Given the description of an element on the screen output the (x, y) to click on. 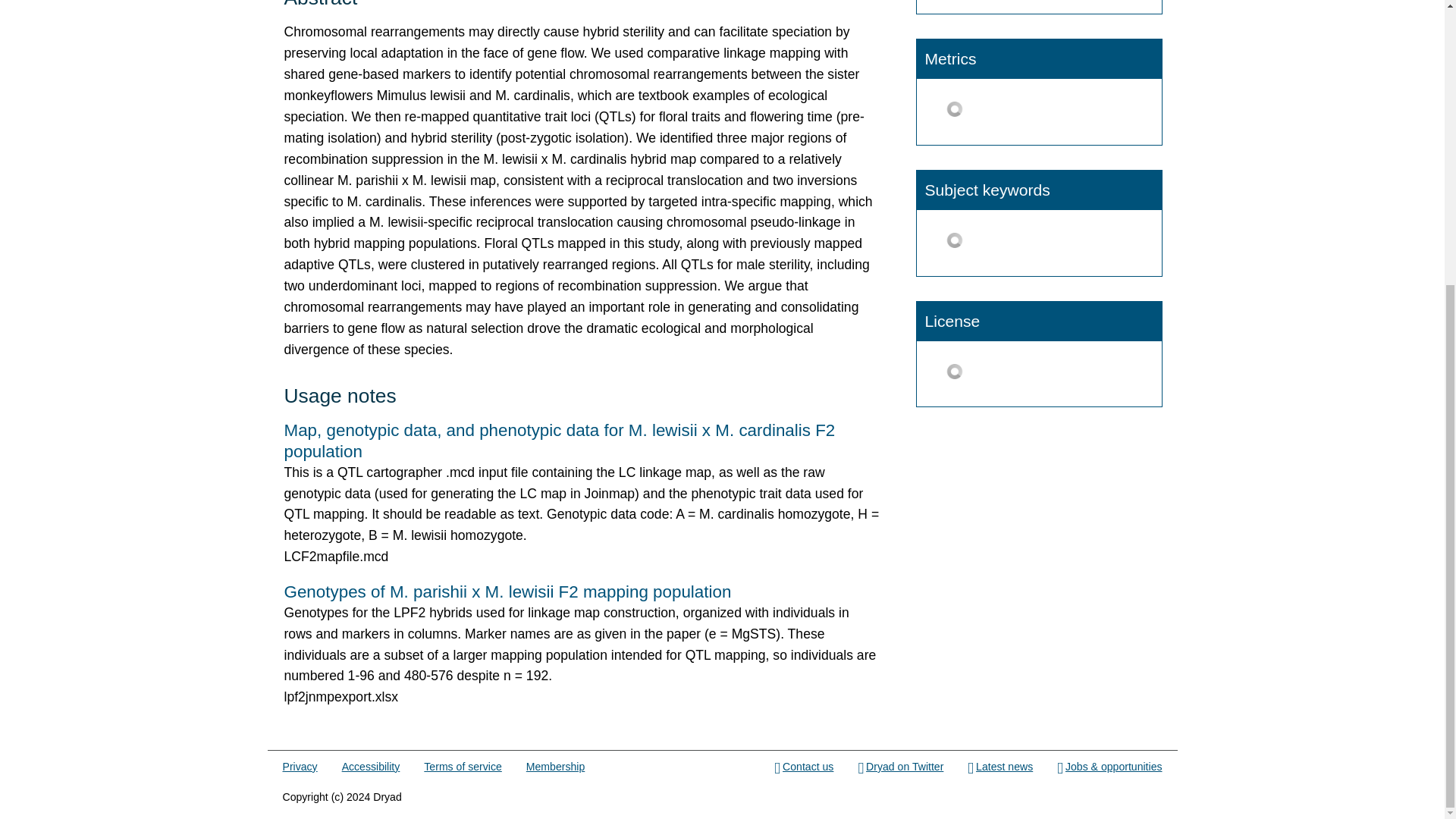
Contact us (803, 767)
Membership (555, 767)
Privacy (299, 767)
Accessibility (371, 767)
Terms of service (461, 767)
